Given the description of an element on the screen output the (x, y) to click on. 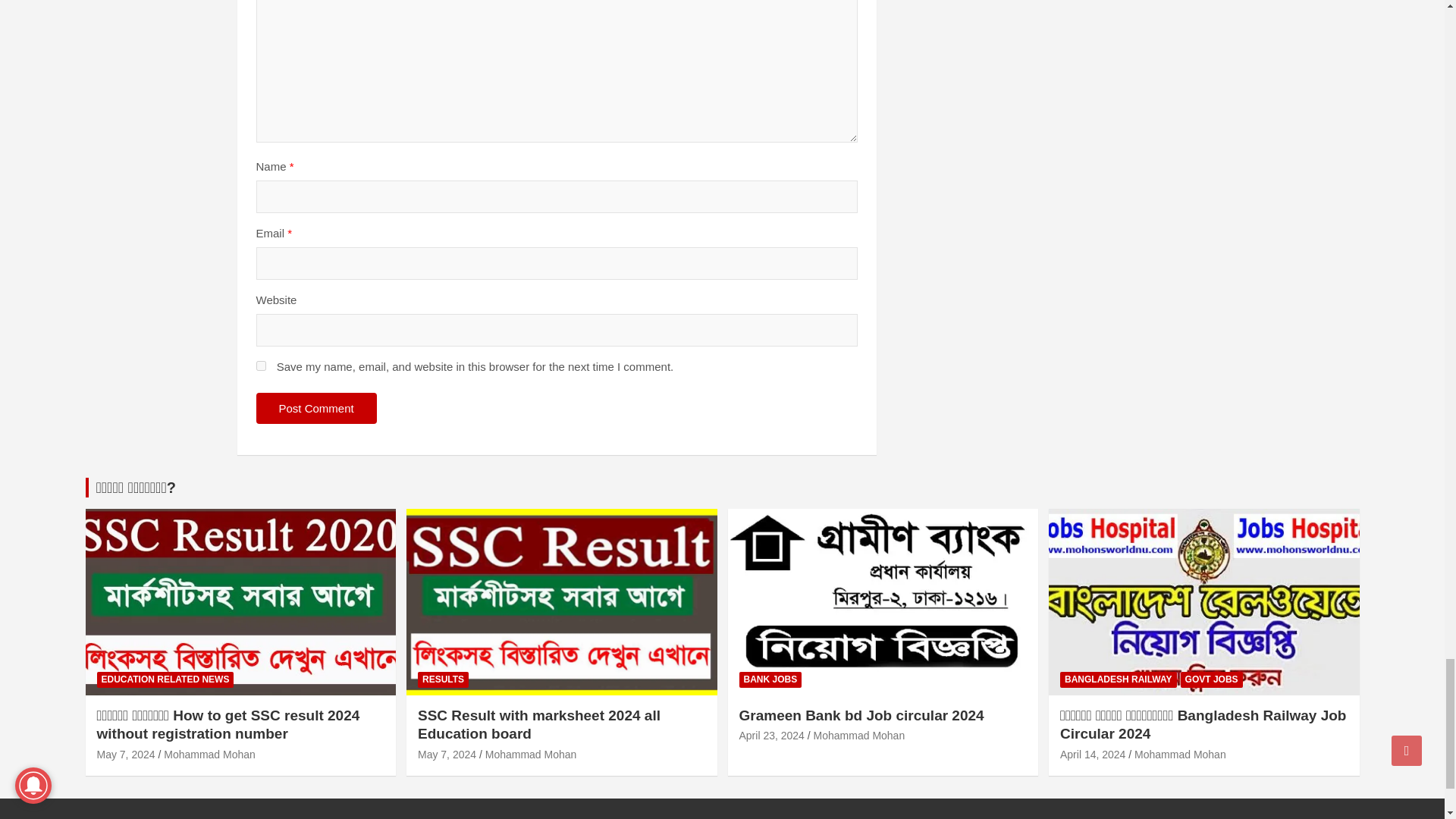
Post Comment (316, 408)
SSC Result with marksheet 2024 all Education board (446, 754)
yes (261, 366)
Grameen Bank bd Job circular 2024 (770, 735)
